Given the description of an element on the screen output the (x, y) to click on. 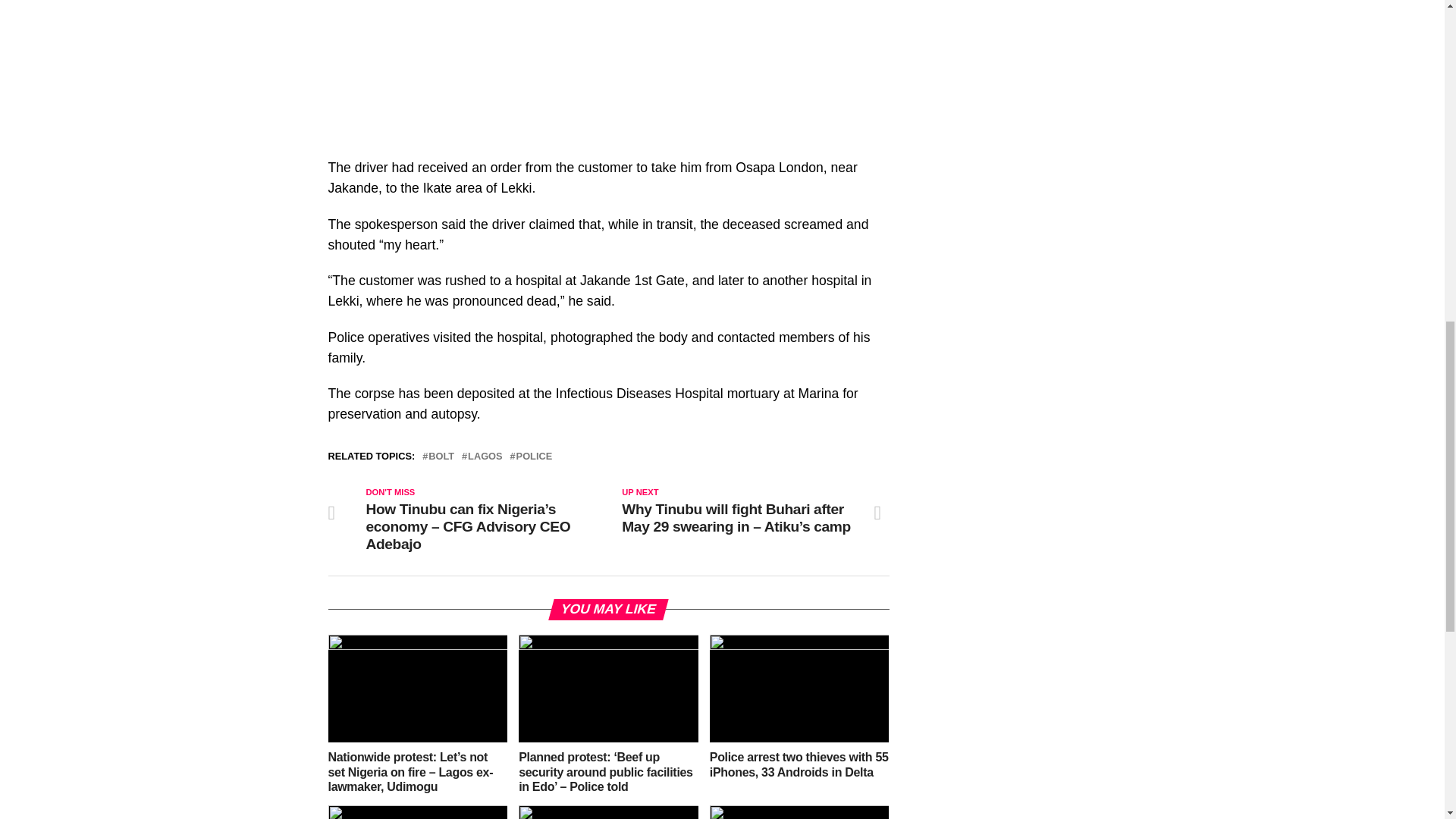
LAGOS (484, 456)
POLICE (534, 456)
BOLT (441, 456)
